Given the description of an element on the screen output the (x, y) to click on. 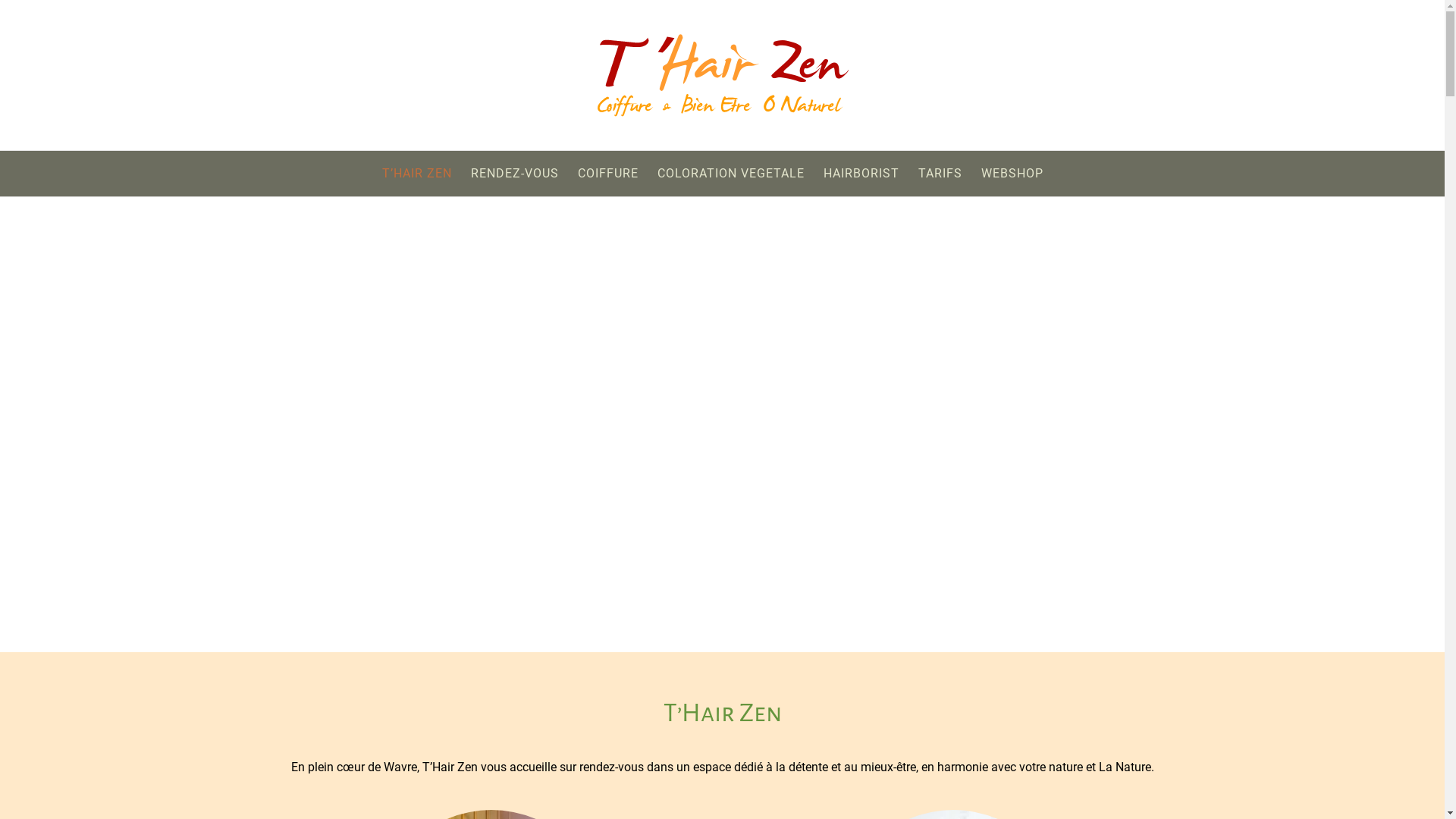
HAIRBORIST Element type: text (861, 173)
COLORATION VEGETALE Element type: text (730, 173)
RENDEZ-VOUS Element type: text (514, 173)
WEBSHOP Element type: text (1012, 173)
TARIFS Element type: text (940, 173)
COIFFURE Element type: text (607, 173)
